Given the description of an element on the screen output the (x, y) to click on. 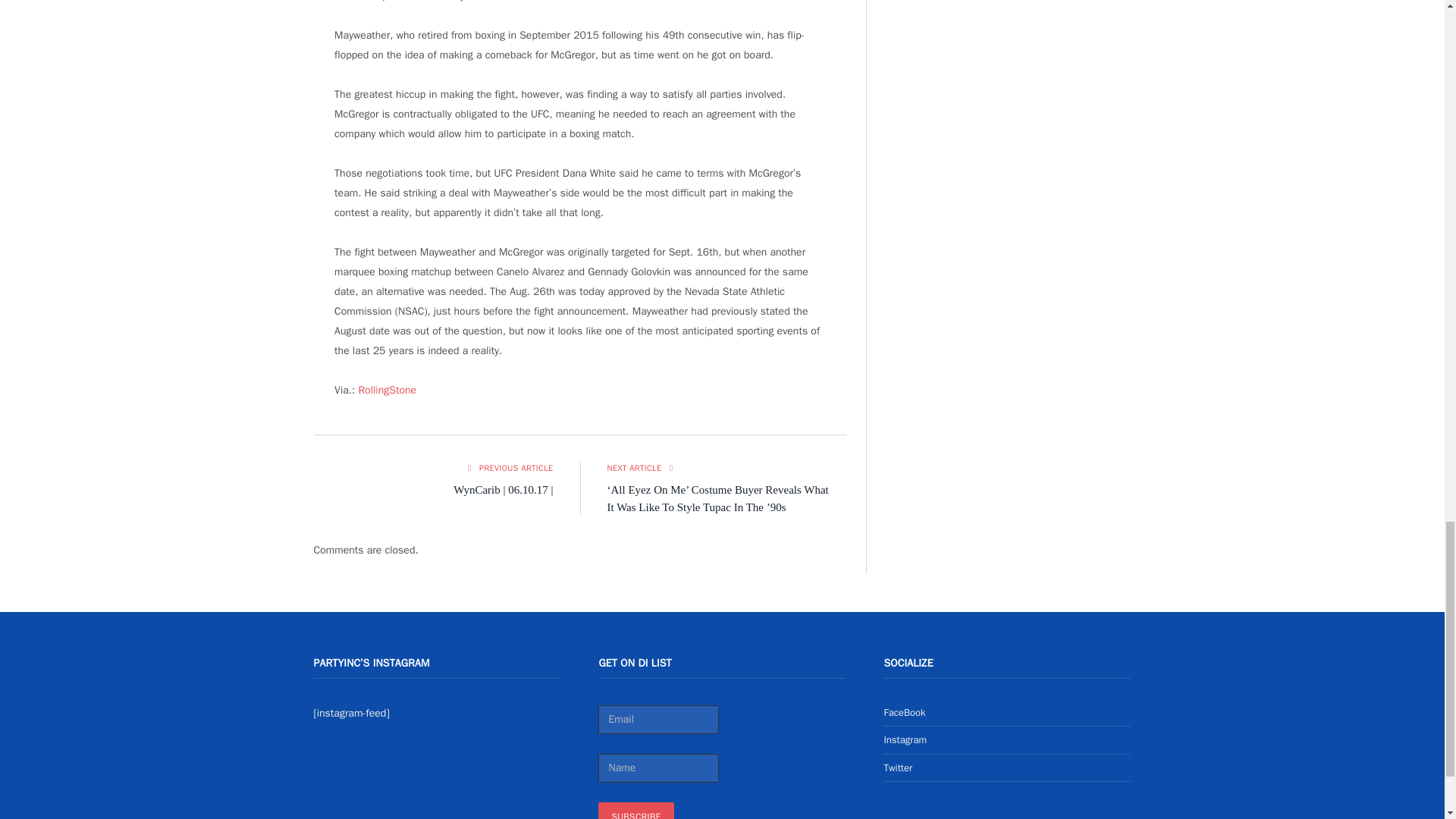
FaceBook (903, 712)
Instagram (904, 739)
RollingStone (387, 390)
Subscribe (635, 810)
Email (658, 719)
Twitter (897, 767)
Name (658, 767)
Subscribe (635, 810)
